Given the description of an element on the screen output the (x, y) to click on. 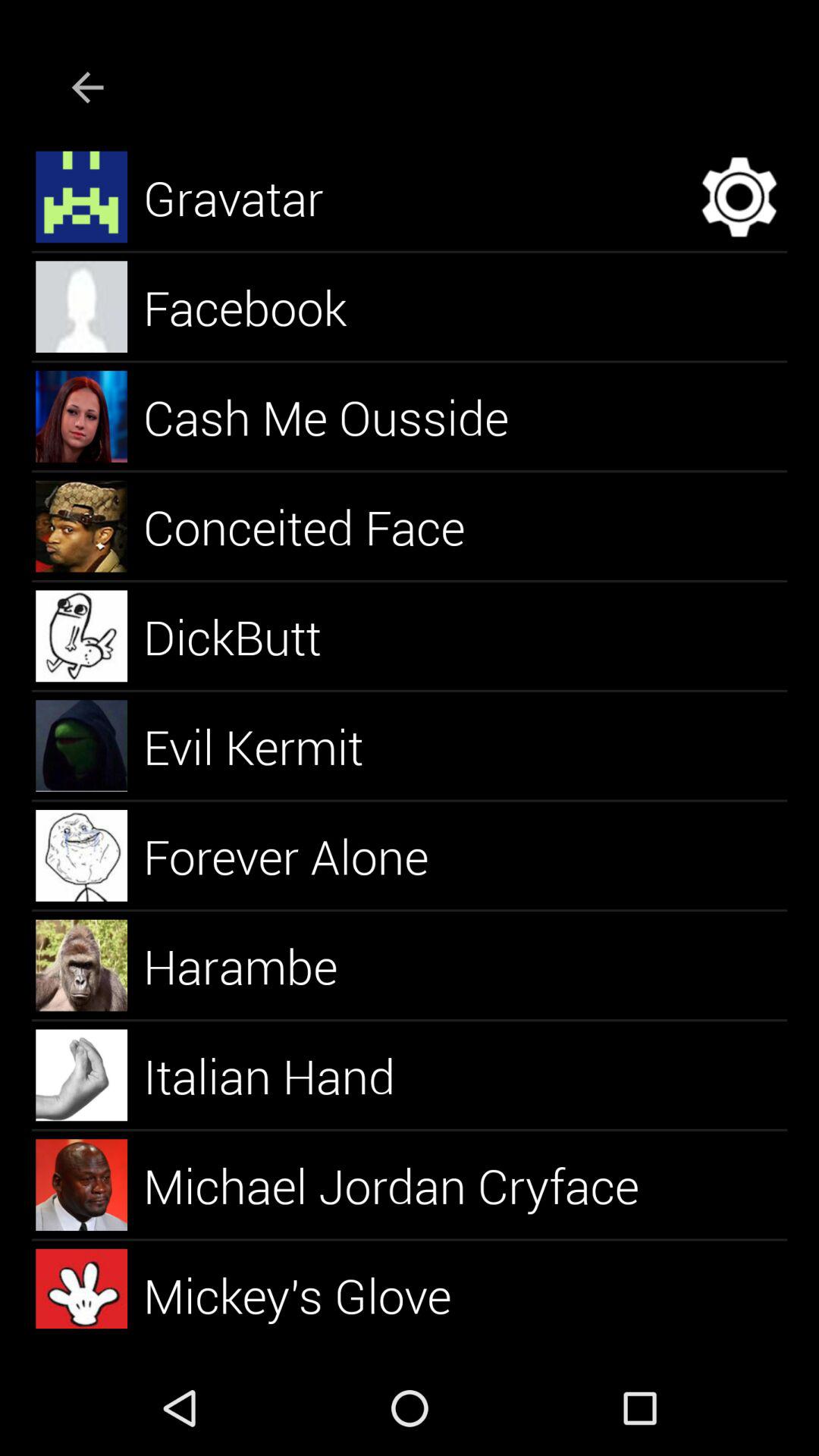
turn on the michael jordan cryface item (409, 1184)
